Given the description of an element on the screen output the (x, y) to click on. 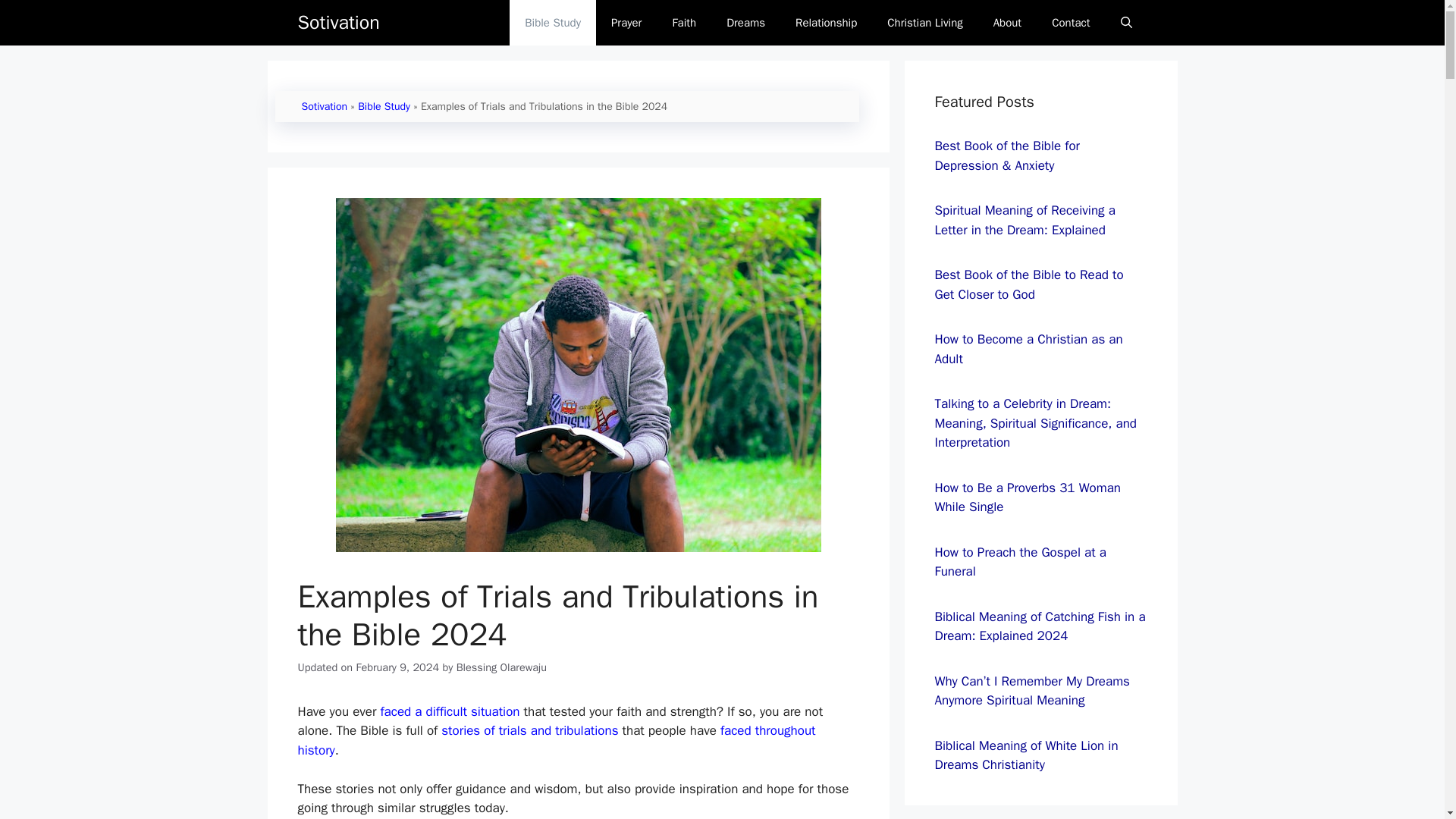
faced a difficult situation (449, 711)
Sotivation (324, 106)
Christian Living (924, 22)
faced throughout history (556, 740)
Relationship (826, 22)
Faith (683, 22)
stories of trials and tribulations (529, 730)
Prayer (625, 22)
Bible Study (552, 22)
Sotivation (337, 22)
Dreams (745, 22)
Bible Study (384, 106)
About (1007, 22)
Contact (1070, 22)
